Given the description of an element on the screen output the (x, y) to click on. 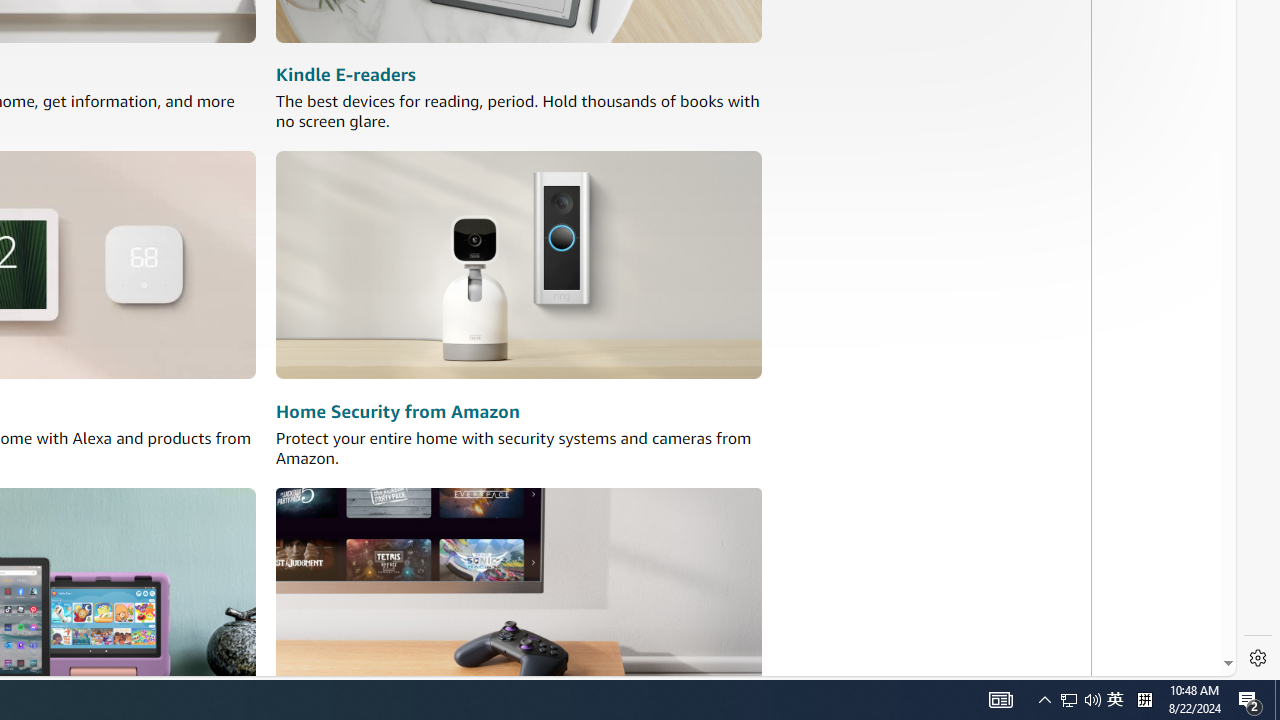
Kindle E-readers (345, 75)
Amazon Luna (518, 600)
Amazon Luna (518, 600)
Home Security devices (518, 265)
Home Security from Amazon (397, 411)
Home Security devices (518, 265)
